Given the description of an element on the screen output the (x, y) to click on. 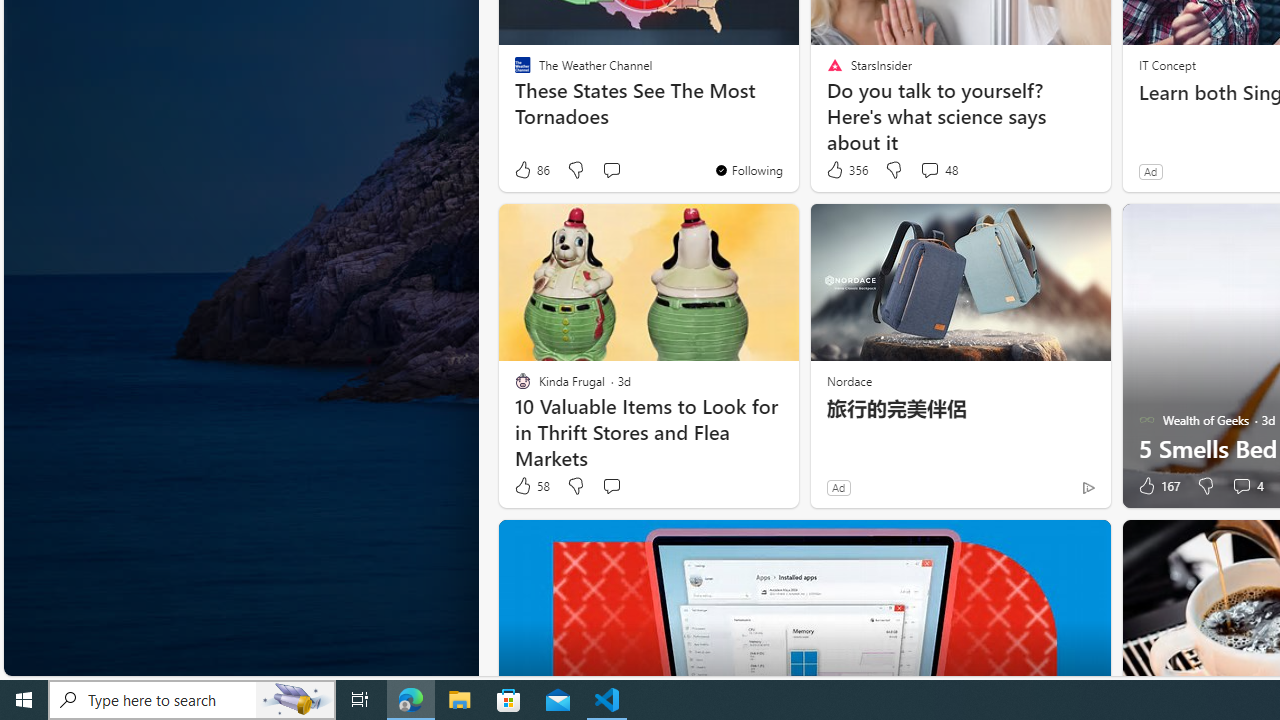
86 Like (531, 170)
View comments 48 Comment (929, 169)
Start the conversation (611, 485)
Start the conversation (610, 485)
View comments 48 Comment (938, 170)
356 Like (845, 170)
Nordace (848, 380)
View comments 4 Comment (1247, 485)
IT Concept (1166, 64)
View comments 4 Comment (1241, 485)
Dislike (1204, 485)
Ad (838, 487)
58 Like (531, 485)
